Given the description of an element on the screen output the (x, y) to click on. 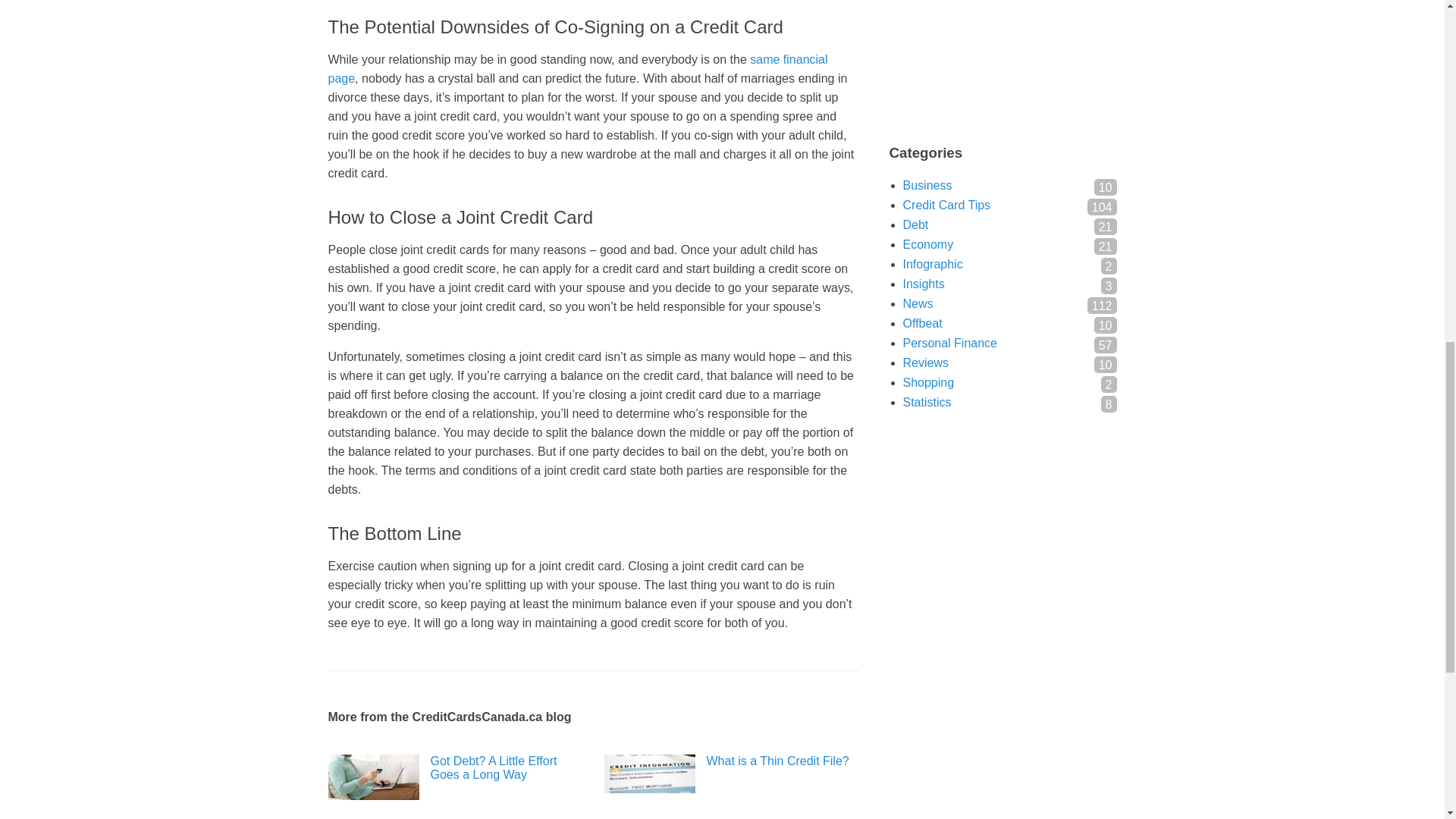
Reviews (924, 362)
Infographic (932, 264)
Advertisement (1002, 55)
Shopping (927, 382)
News (917, 303)
Offbeat (922, 323)
same financial page (577, 69)
Personal Finance (949, 342)
What is a Thin Credit File? (731, 761)
Economy (927, 244)
Debt (915, 224)
Insights (922, 283)
Business (927, 185)
Got Debt? A Little Effort Goes a Long Way (454, 768)
Credit Card Tips (946, 205)
